Given the description of an element on the screen output the (x, y) to click on. 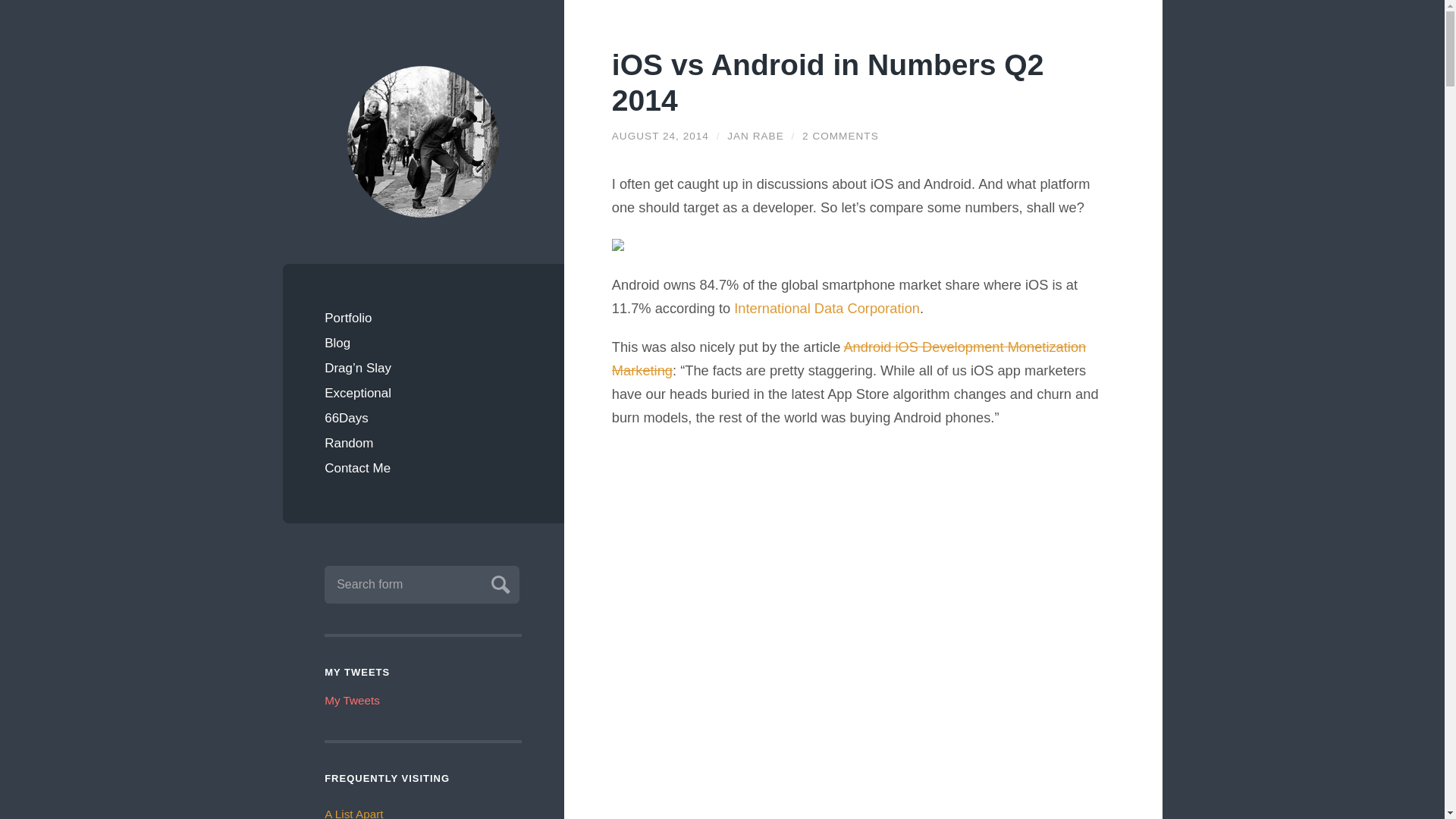
66Days (422, 417)
A List Apart (353, 813)
Blog (422, 342)
Search (498, 582)
My Tweets (352, 699)
Exceptional (422, 392)
Submit (498, 582)
Portfolio (422, 317)
Contact Me (422, 467)
A List Apart (353, 813)
Random (422, 442)
